Given the description of an element on the screen output the (x, y) to click on. 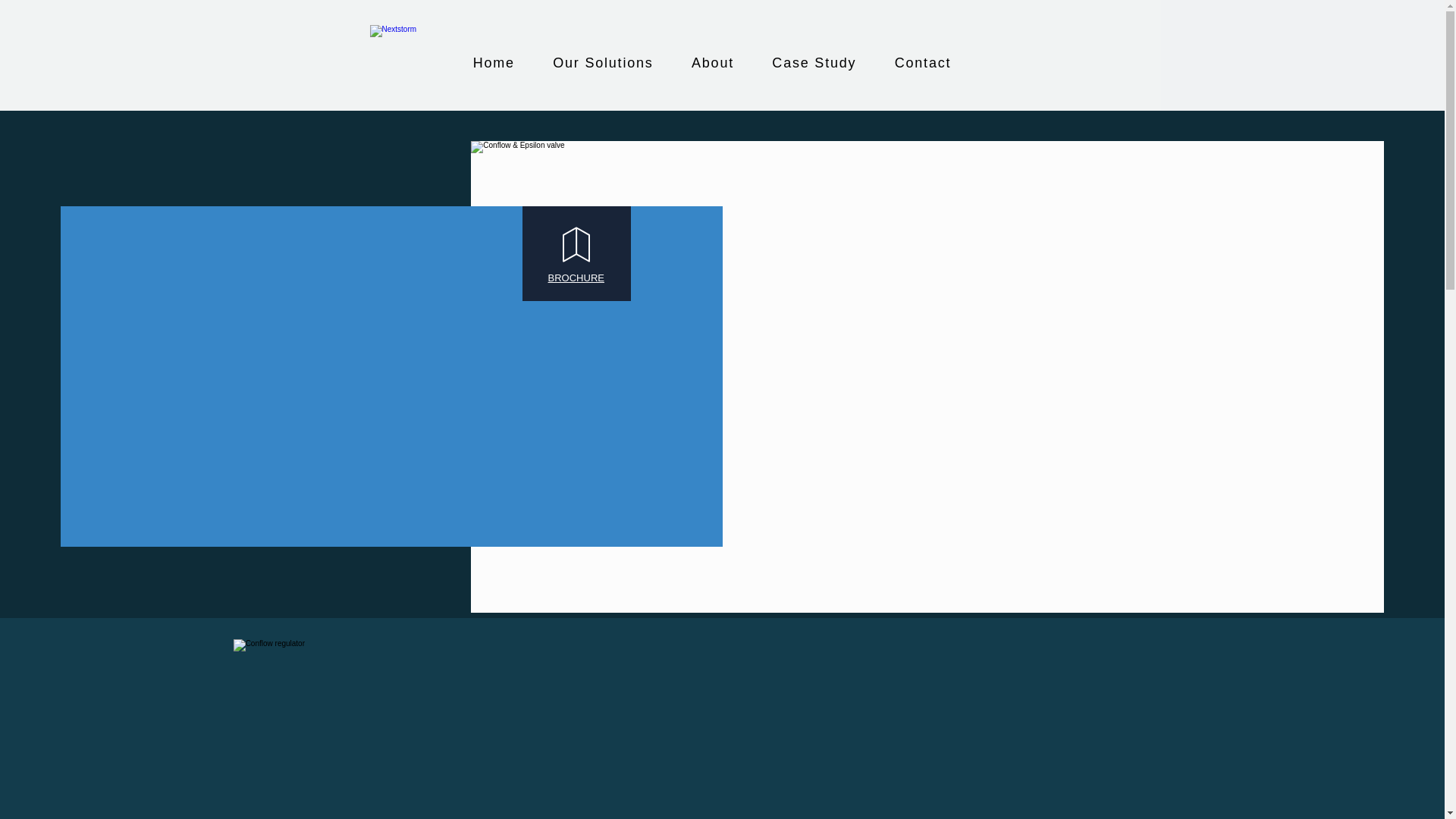
Case Study (813, 63)
BROCHURE (576, 277)
Home (494, 63)
About (712, 63)
Contact (923, 63)
